Given the description of an element on the screen output the (x, y) to click on. 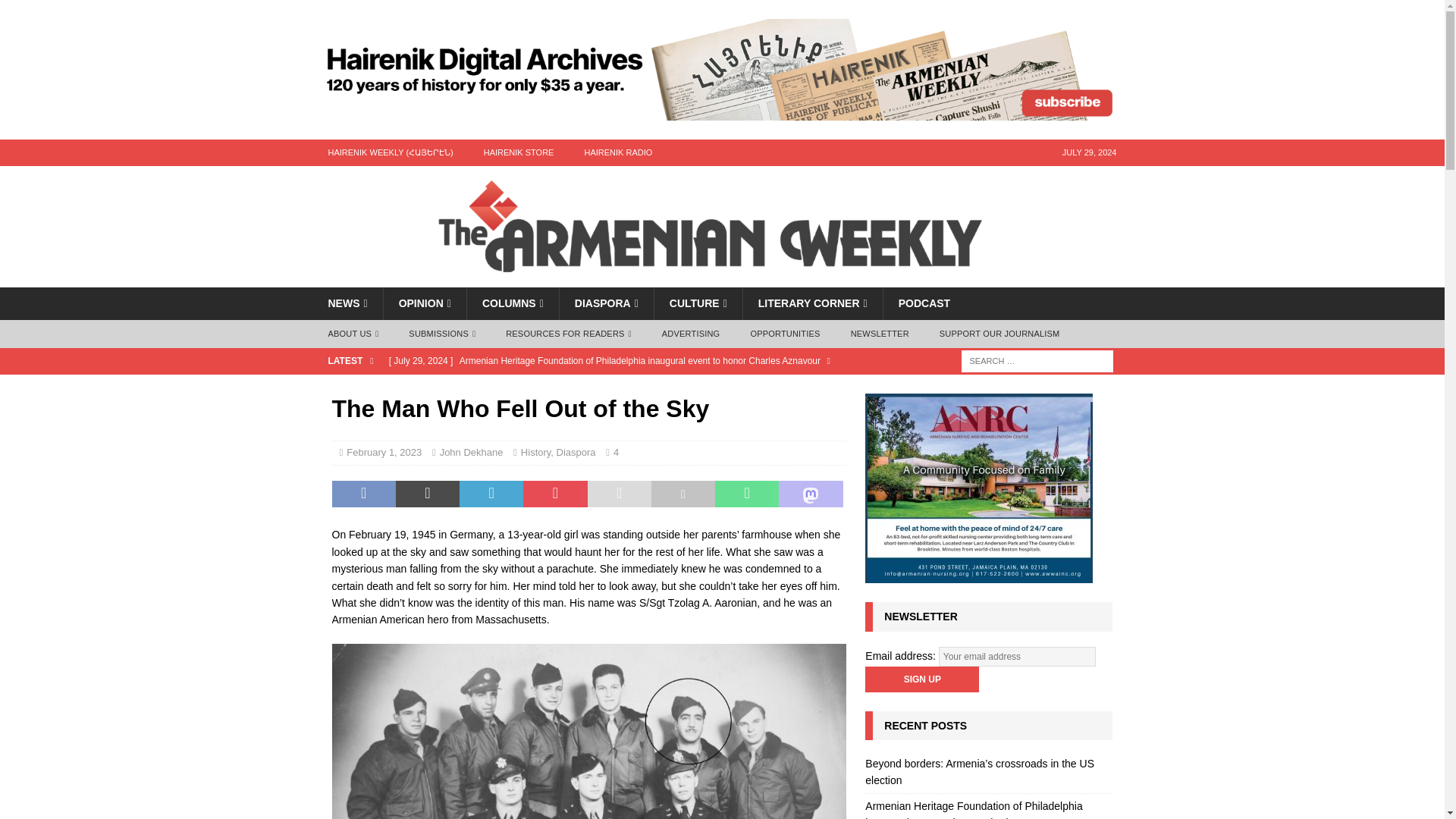
Pin This Post (554, 493)
Share on Facebook (363, 493)
HAIRENIK RADIO (617, 152)
Sign up (921, 679)
Tweet This Post (428, 493)
HAIRENIK STORE (518, 152)
The Armenian Weekly (722, 278)
Share on LinkedIn (491, 493)
